Given the description of an element on the screen output the (x, y) to click on. 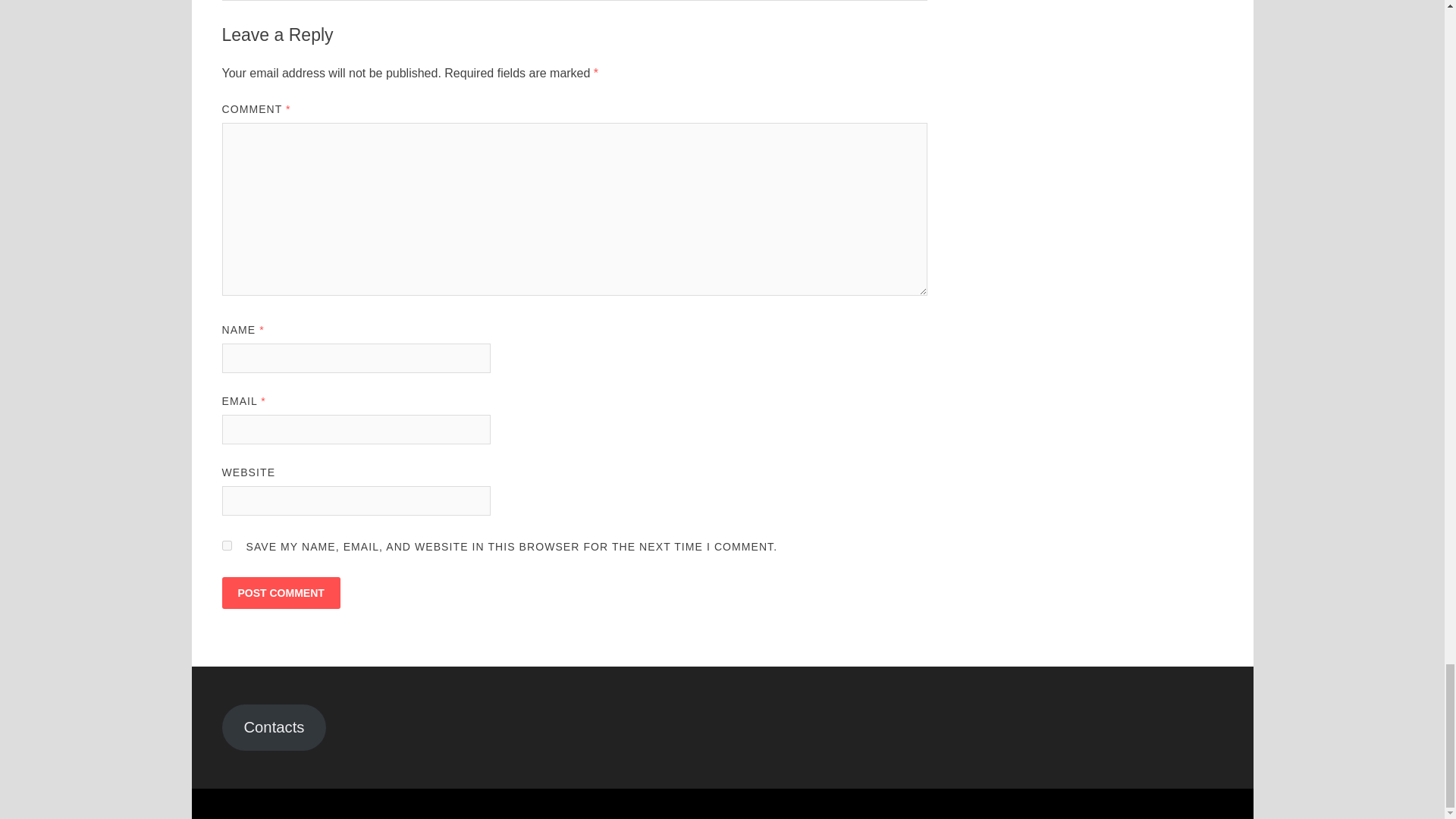
Post Comment (280, 593)
Post Comment (280, 593)
yes (226, 545)
